Given the description of an element on the screen output the (x, y) to click on. 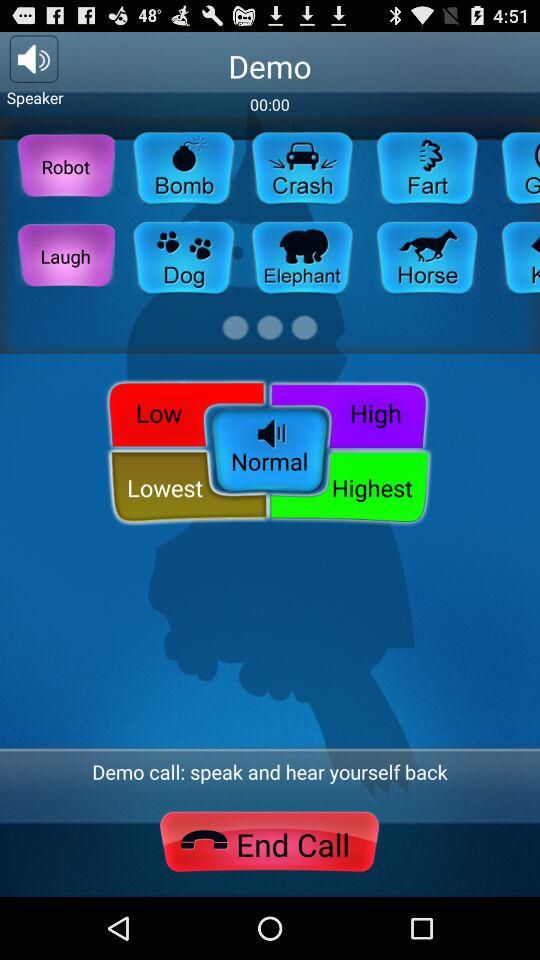
click button above laugh button (65, 166)
